Given the description of an element on the screen output the (x, y) to click on. 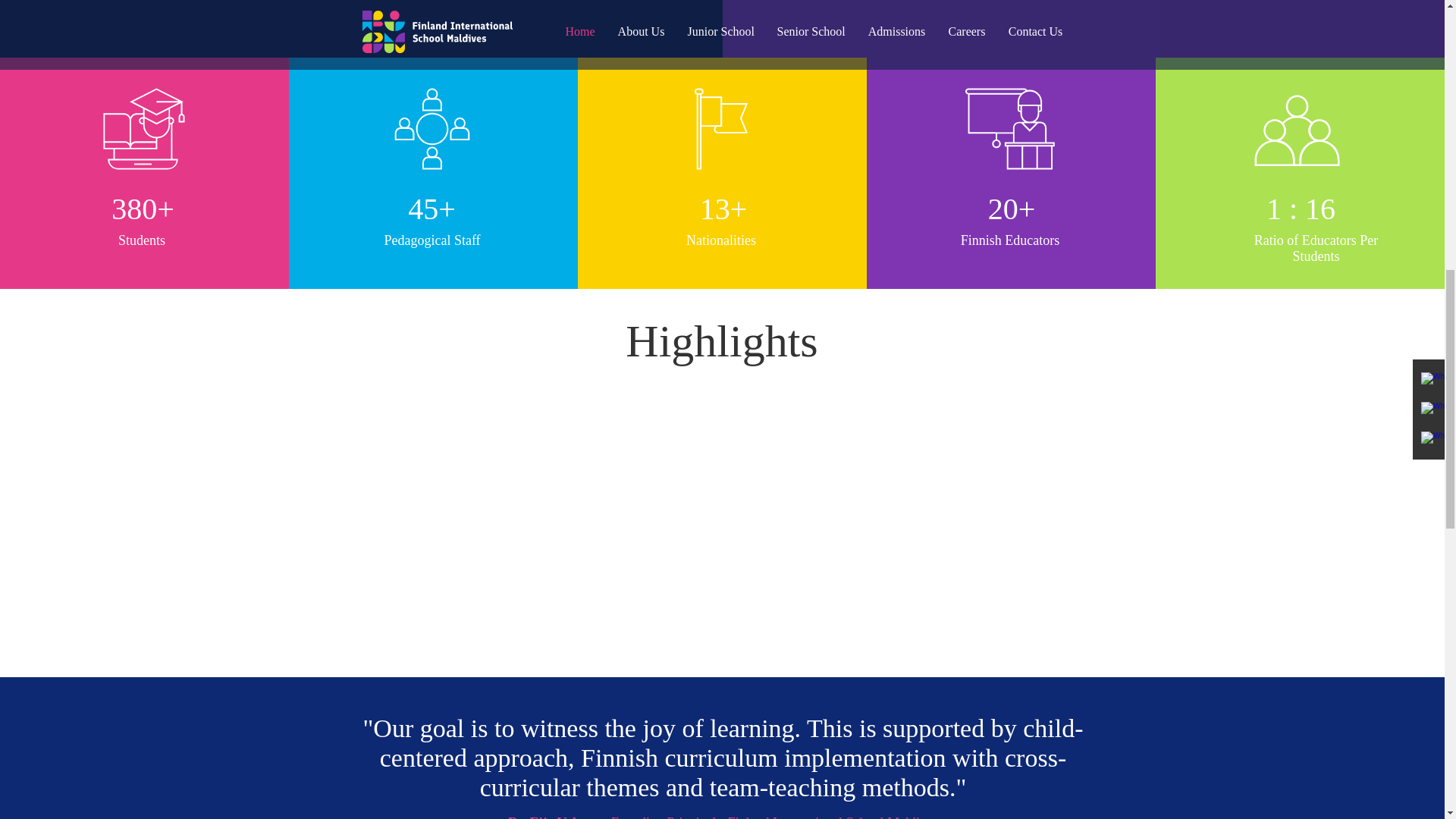
1 : 16 (1299, 209)
